Given the description of an element on the screen output the (x, y) to click on. 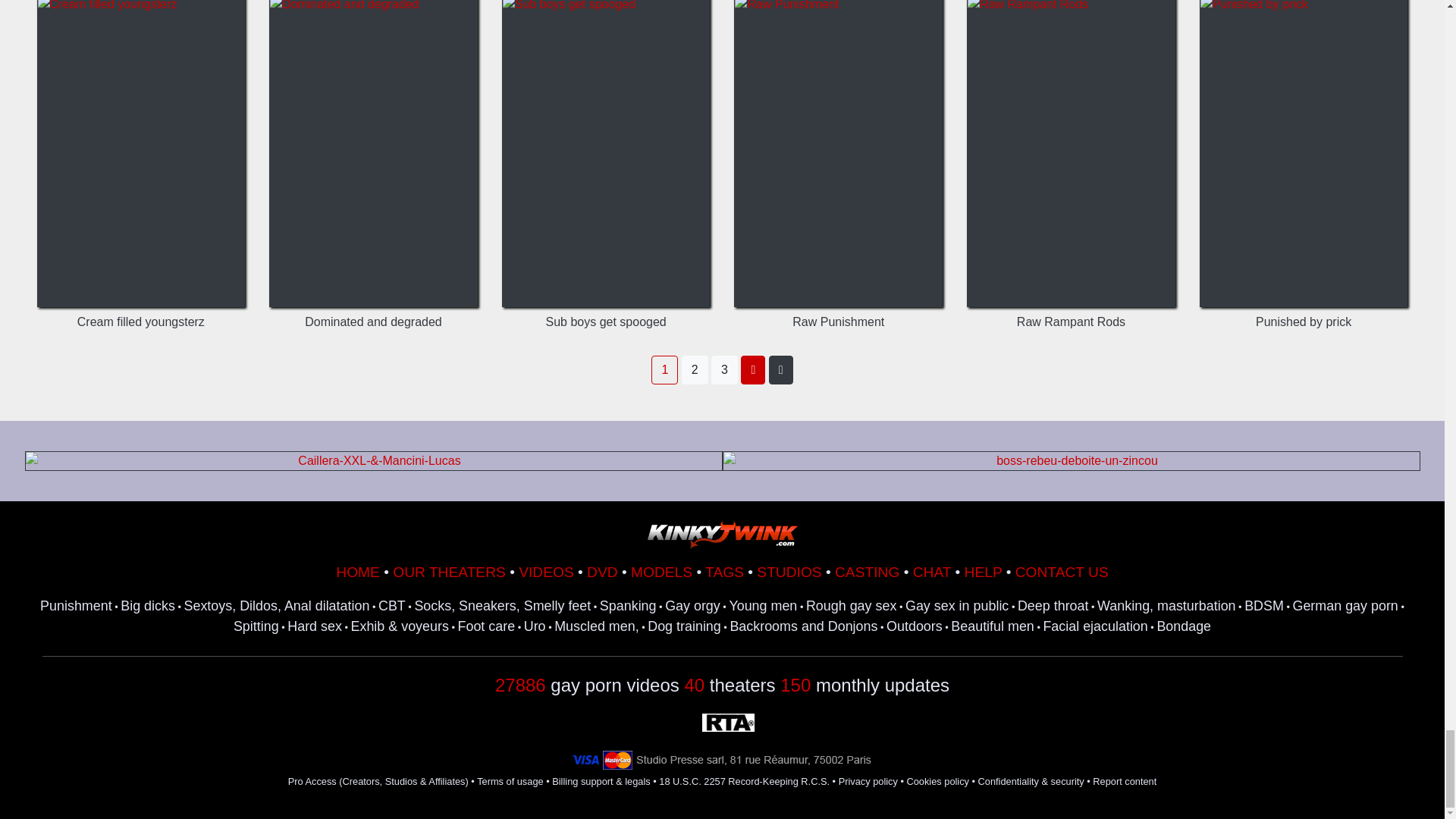
KinkyTwink (721, 534)
